Given the description of an element on the screen output the (x, y) to click on. 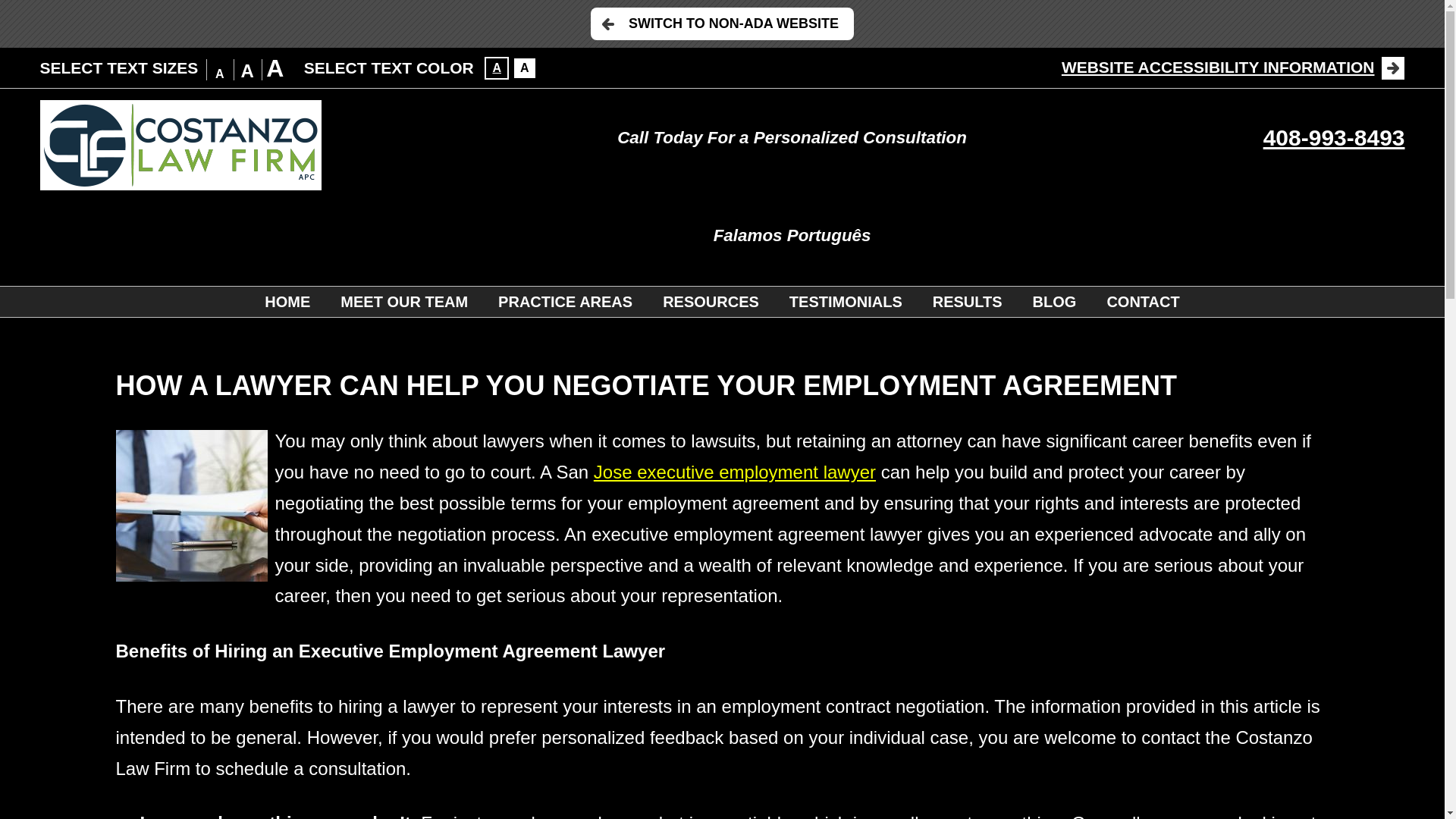
WEBSITE ACCESSIBILITY INFORMATION (1233, 67)
Invert Colors (524, 67)
Invert Colors (496, 67)
SWITCH TO NON-ADA WEBSITE (722, 23)
Documents (190, 505)
A (496, 67)
Click to view external accessibility article (1233, 67)
MEET OUR TEAM (403, 301)
A (524, 67)
PRACTICE AREAS (565, 301)
